Given the description of an element on the screen output the (x, y) to click on. 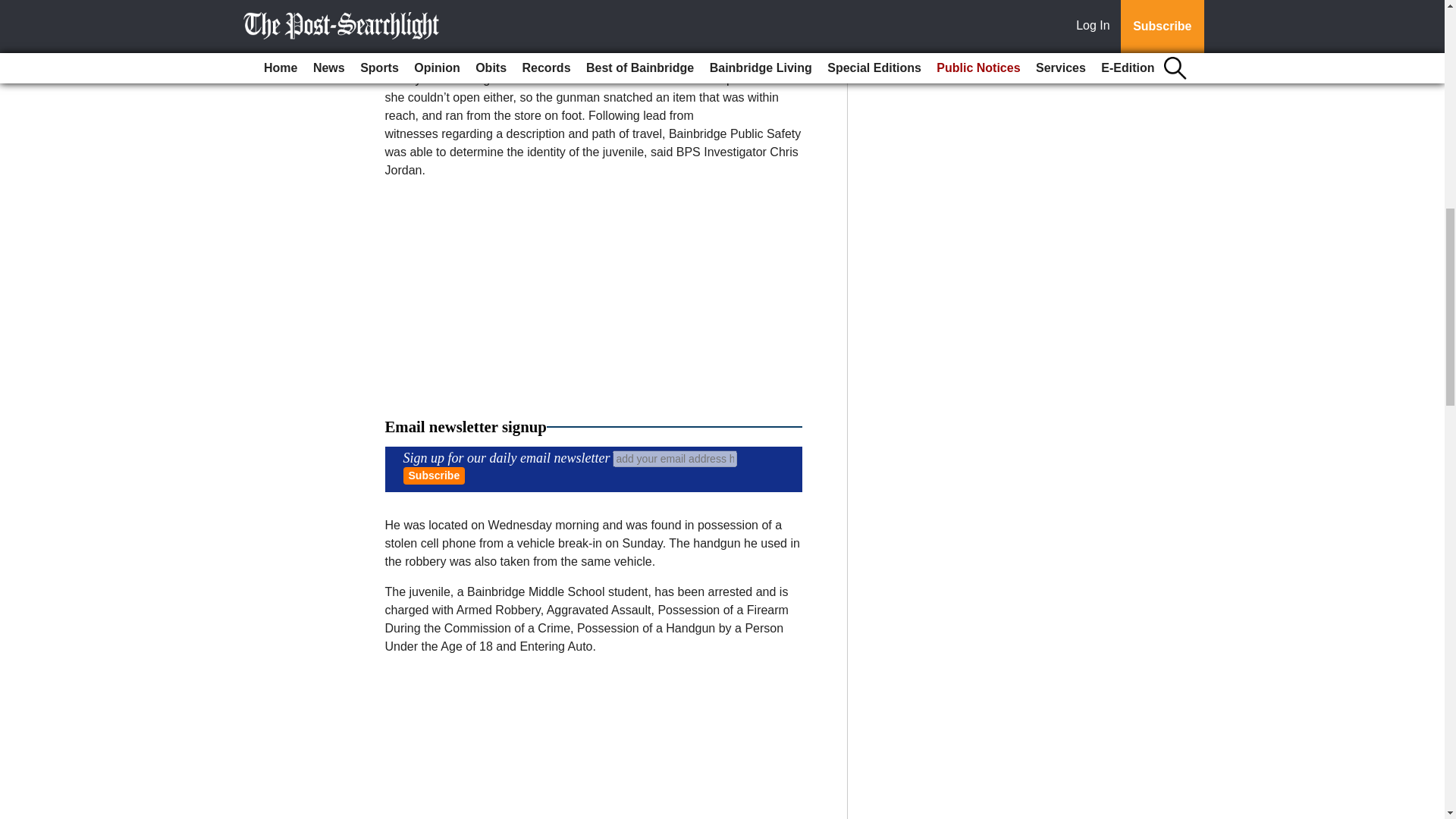
Subscribe (434, 475)
Subscribe (434, 475)
